Given the description of an element on the screen output the (x, y) to click on. 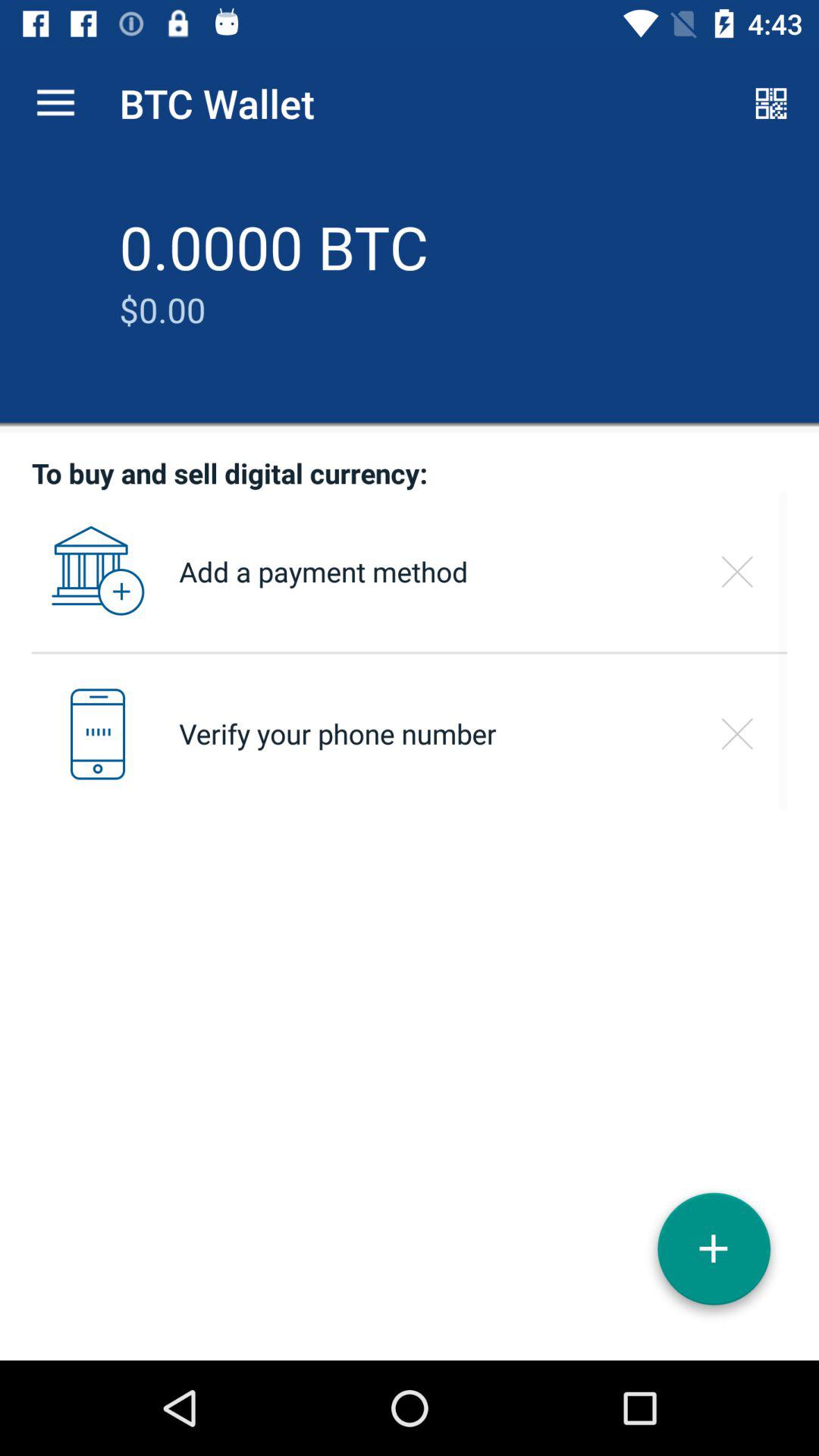
add to btc wallet (713, 1254)
